Given the description of an element on the screen output the (x, y) to click on. 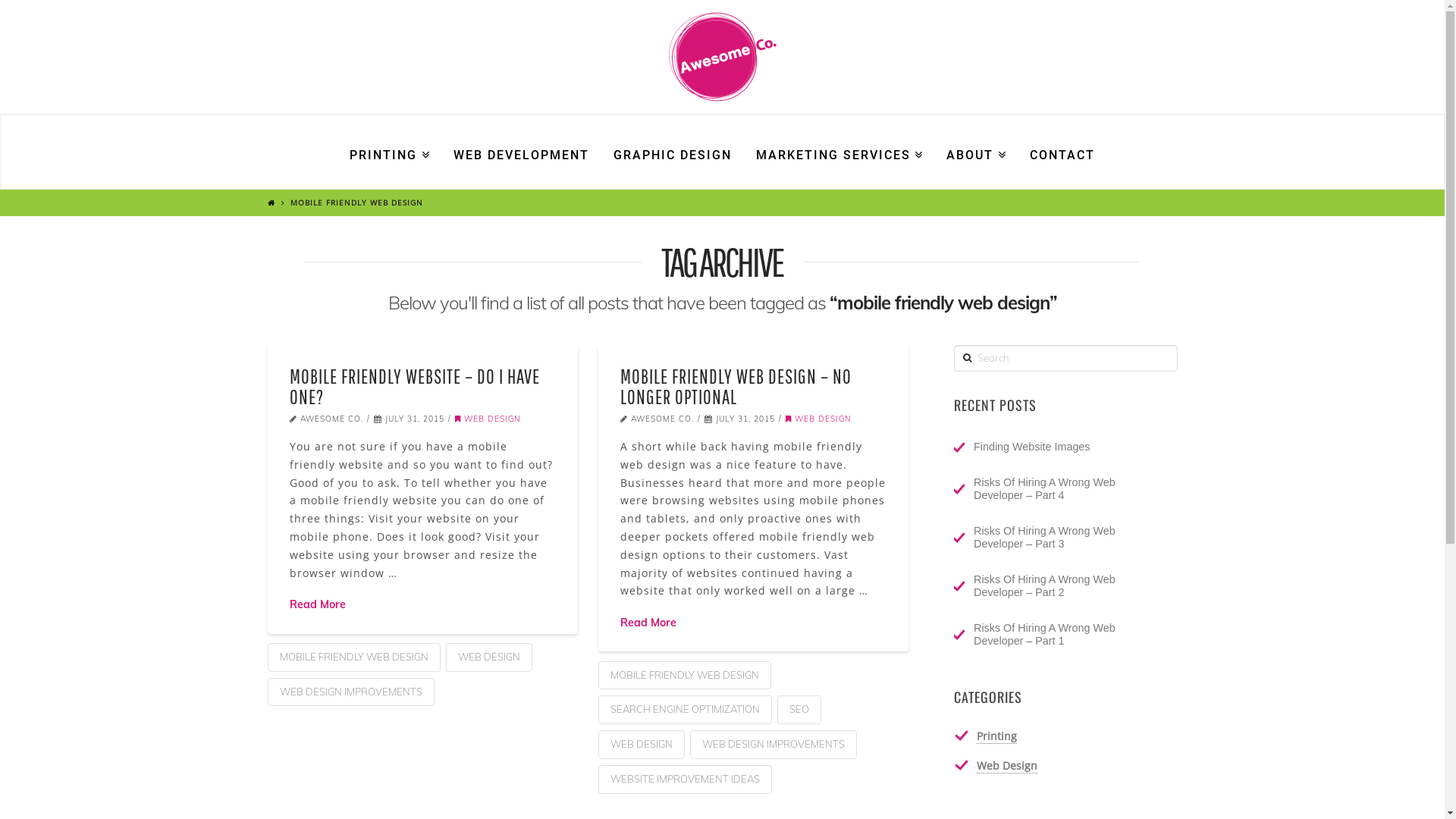
WEB DESIGN Element type: text (640, 744)
Read More Element type: text (648, 622)
WEB DEVELOPMENT Element type: text (521, 151)
Printing Element type: text (996, 735)
ABOUT Element type: text (975, 151)
SEARCH ENGINE OPTIMIZATION Element type: text (684, 709)
WEB DESIGN Element type: text (487, 418)
Marketing, Print, Web Design, Branding Element type: hover (722, 56)
Finding Website Images Element type: text (1060, 446)
Web Design Element type: text (1006, 765)
SEO Element type: text (799, 709)
GRAPHIC DESIGN Element type: text (672, 151)
WEB DESIGN Element type: text (488, 657)
MARKETING SERVICES Element type: text (839, 151)
MOBILE FRIENDLY WEB DESIGN Element type: text (352, 657)
WEBSITE IMPROVEMENT IDEAS Element type: text (684, 779)
WEB DESIGN IMPROVEMENTS Element type: text (349, 691)
PRINTING Element type: text (389, 151)
WEB DESIGN IMPROVEMENTS Element type: text (773, 744)
Read More Element type: text (317, 603)
MOBILE FRIENDLY WEB DESIGN Element type: text (683, 675)
WEB DESIGN Element type: text (818, 418)
CONTACT Element type: text (1062, 151)
